Given the description of an element on the screen output the (x, y) to click on. 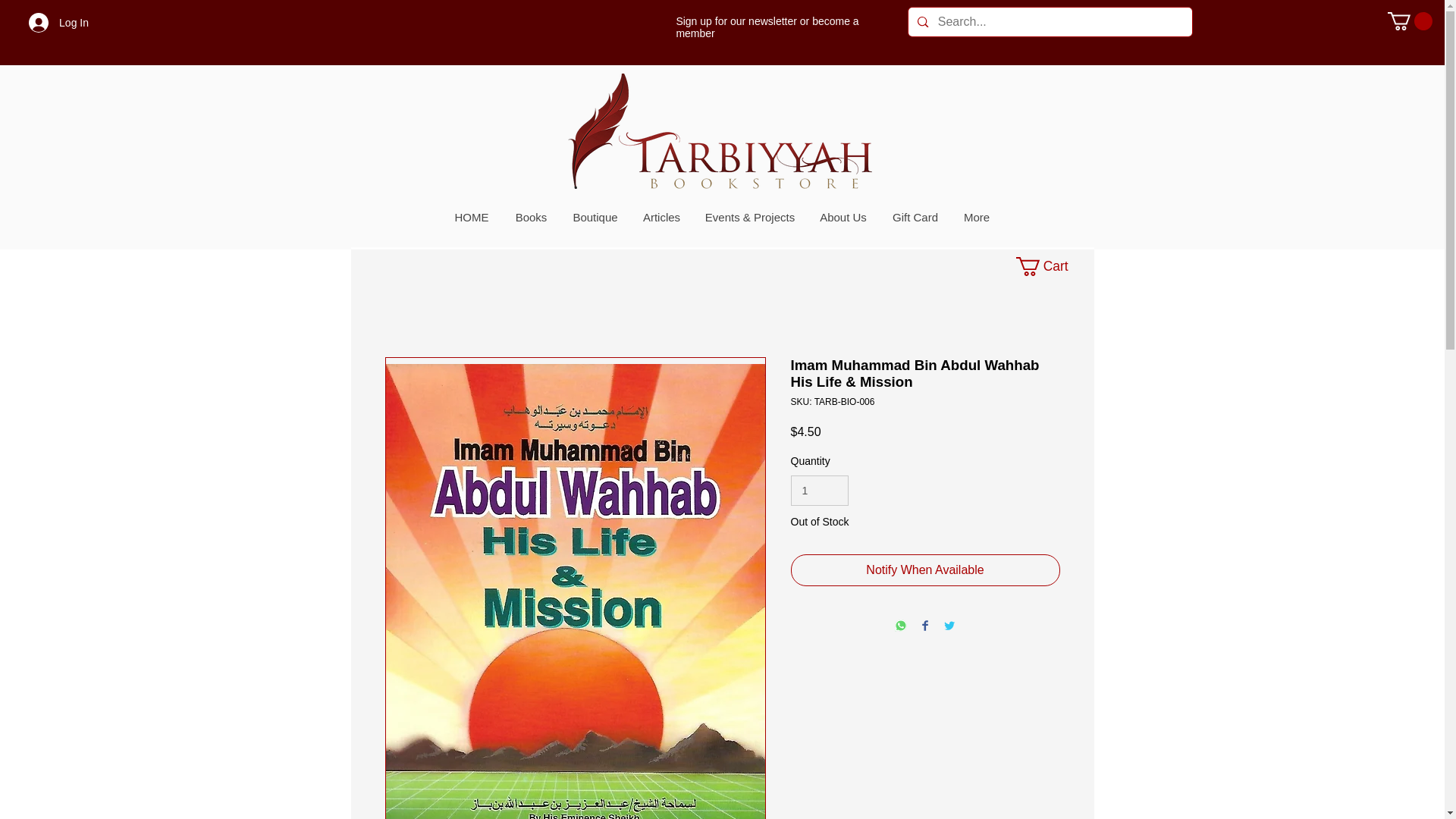
HOME (470, 217)
Gift Card (914, 217)
Cart (1050, 266)
Log In (58, 22)
Books (531, 217)
Notify When Available (924, 570)
Articles (660, 217)
1 (818, 490)
Sign up for our newsletter or become a member (767, 27)
Boutique (593, 217)
